Given the description of an element on the screen output the (x, y) to click on. 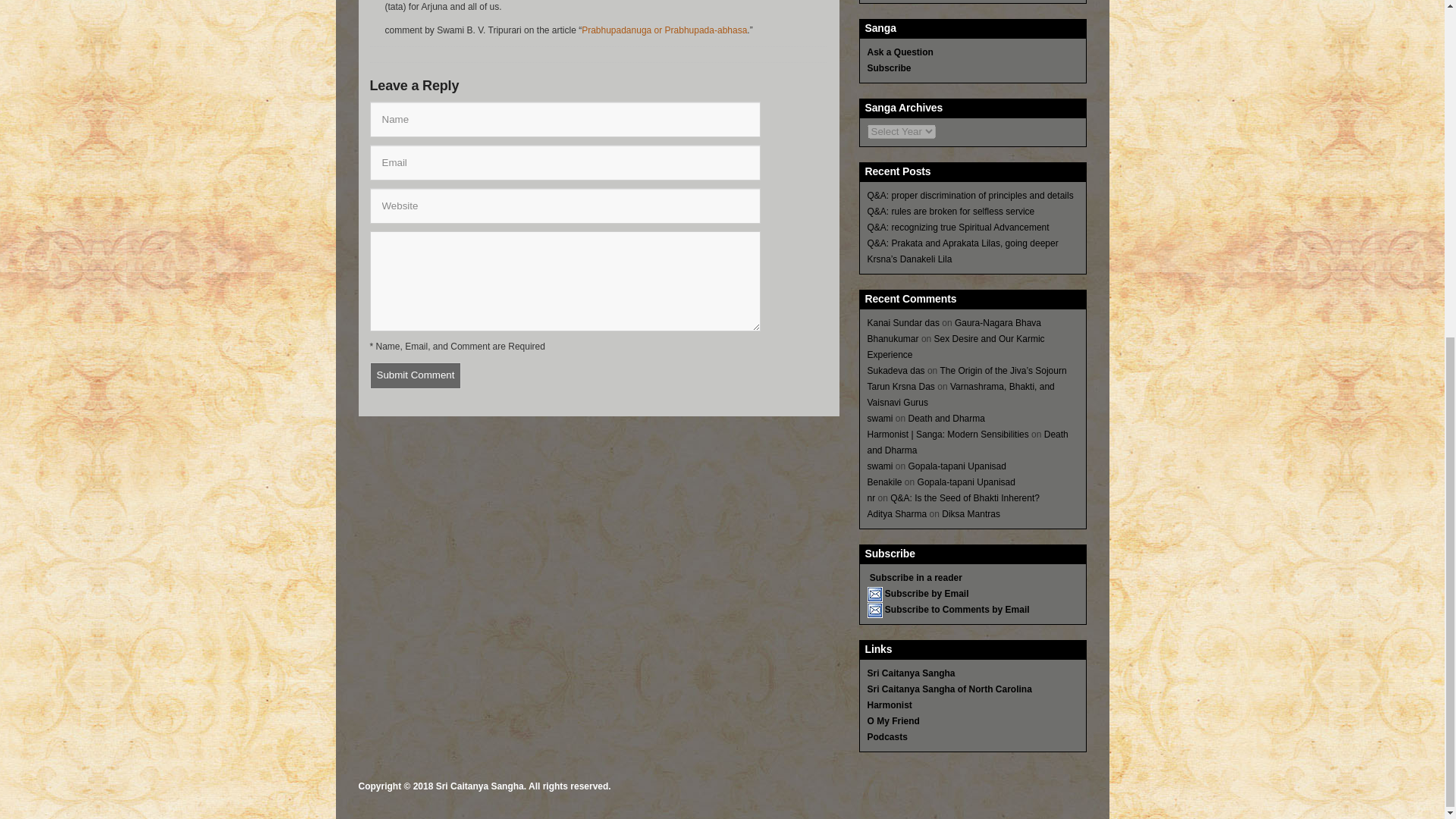
Email (564, 162)
Subscribe (889, 68)
Website (564, 205)
Submit Comment (415, 375)
Name (564, 119)
Ask a Question (900, 51)
Prabhupadanuga or Prabhupada-abhasa (663, 30)
Submit Comment (415, 375)
